Given the description of an element on the screen output the (x, y) to click on. 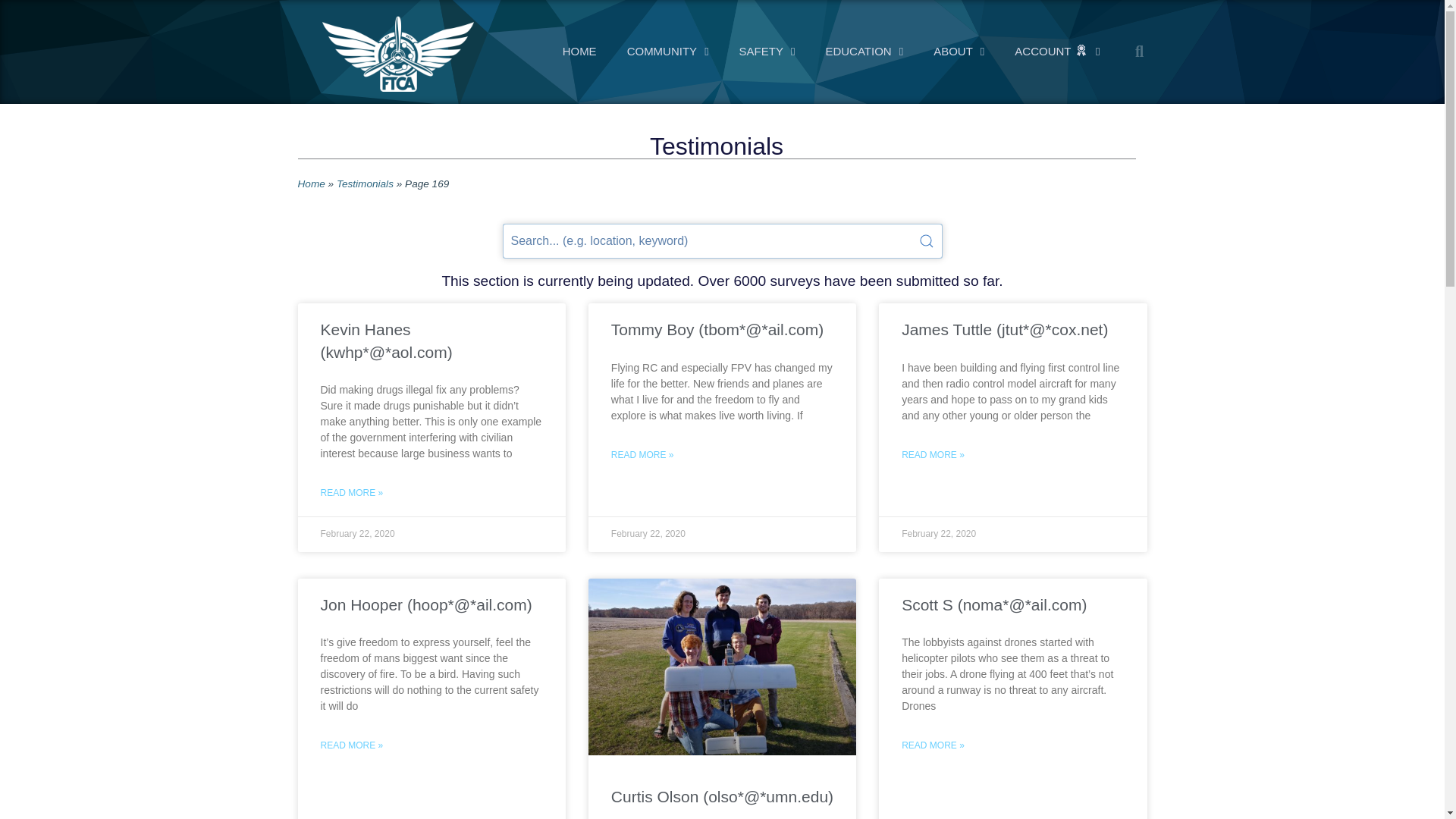
HOME (579, 51)
ACCOUNT (1056, 51)
Search (722, 240)
SAFETY (766, 51)
COMMUNITY (667, 51)
EDUCATION (863, 51)
ABOUT (958, 51)
